Given the description of an element on the screen output the (x, y) to click on. 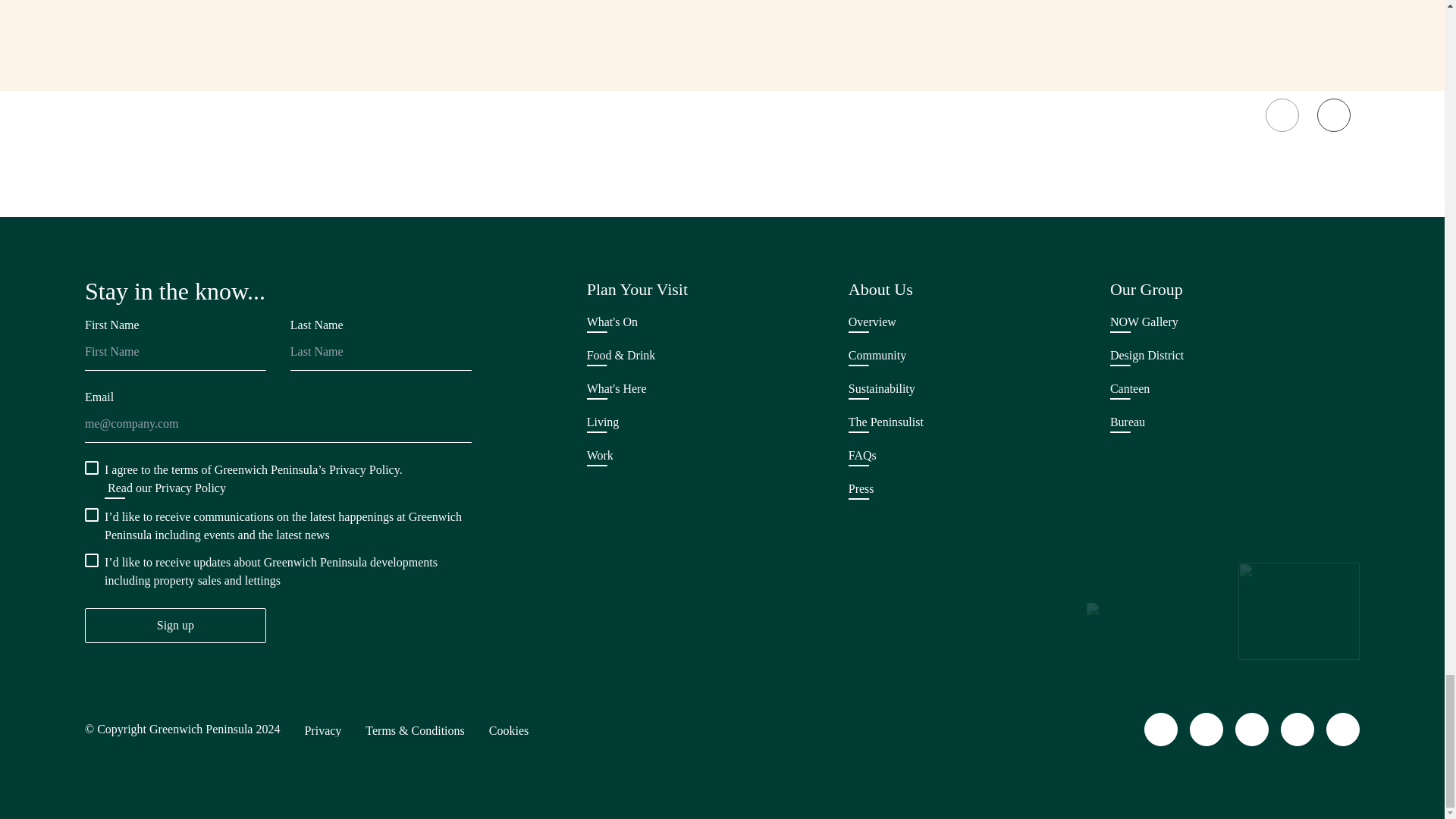
What's On (611, 322)
Sign up (175, 625)
Living (603, 423)
 Read our Privacy Policy (172, 490)
What's Here (616, 389)
